Given the description of an element on the screen output the (x, y) to click on. 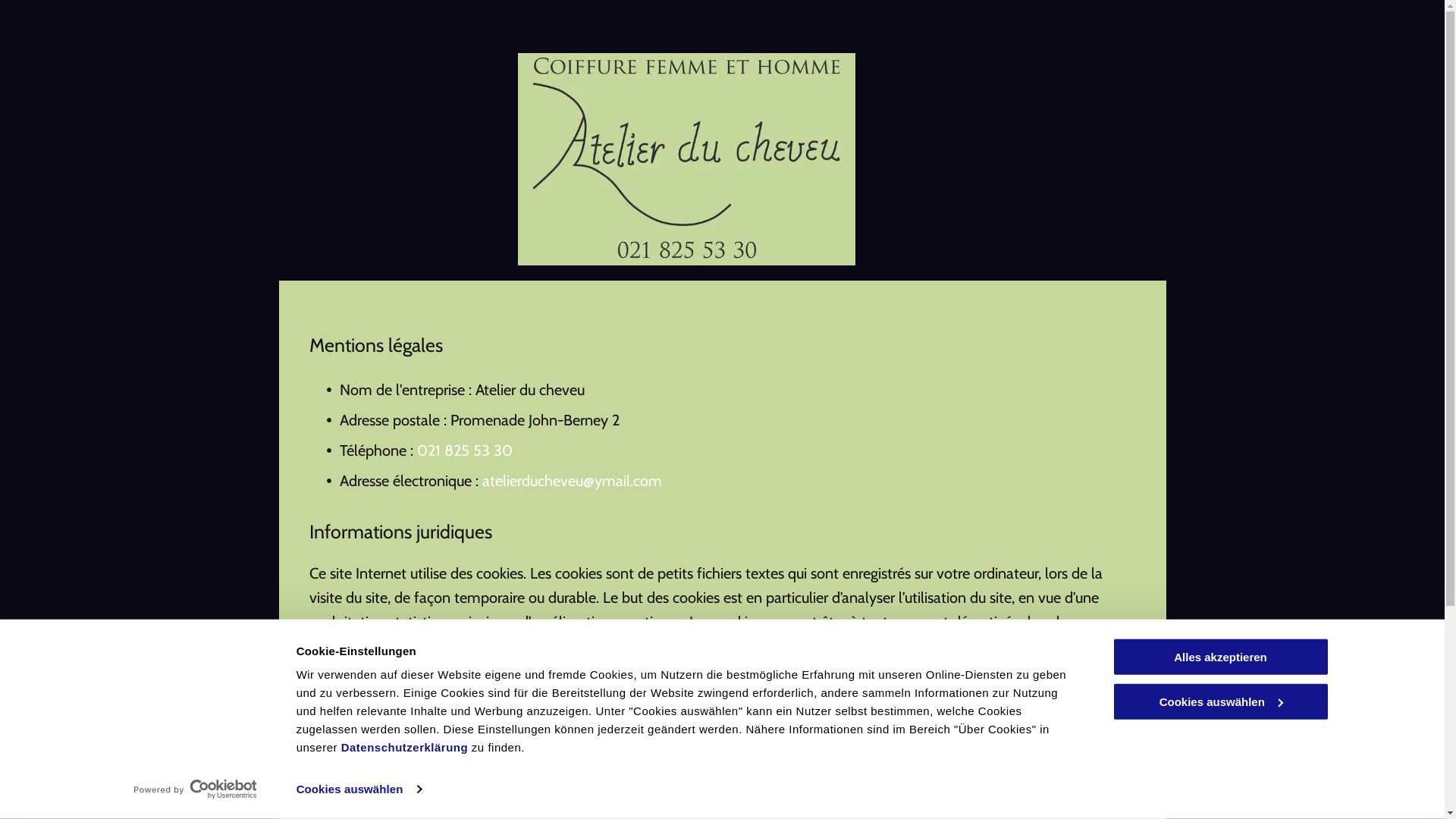
local.ch Element type: text (465, 767)
Alles akzeptieren Element type: text (1219, 656)
localsearch.ch Element type: text (475, 718)
search.ch Element type: text (538, 767)
021 825 53 30 Element type: text (464, 450)
atelierducheveu@ymail.com Element type: text (572, 480)
